Given the description of an element on the screen output the (x, y) to click on. 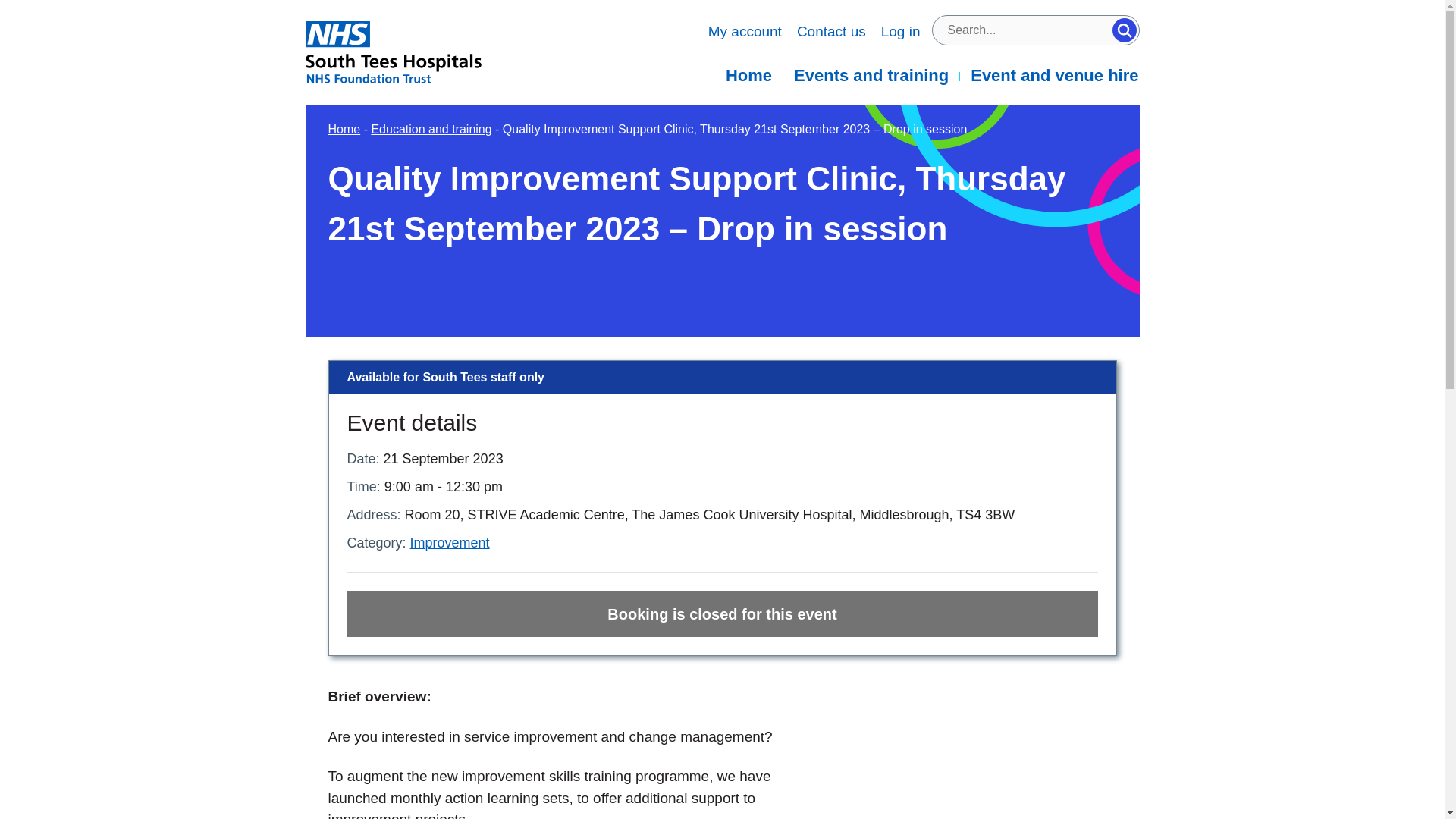
Log in (900, 32)
Education and training (431, 129)
Event and venue hire (1048, 76)
Search (1123, 30)
Search (1123, 30)
Events and training (871, 76)
Search (1123, 30)
Home (748, 76)
My account (744, 32)
Go to South Tees Conferences and Events. (343, 129)
Improvement (449, 543)
Contact us (831, 32)
Home (343, 129)
Go to Education and training. (431, 129)
Visit the homepage (418, 52)
